Given the description of an element on the screen output the (x, y) to click on. 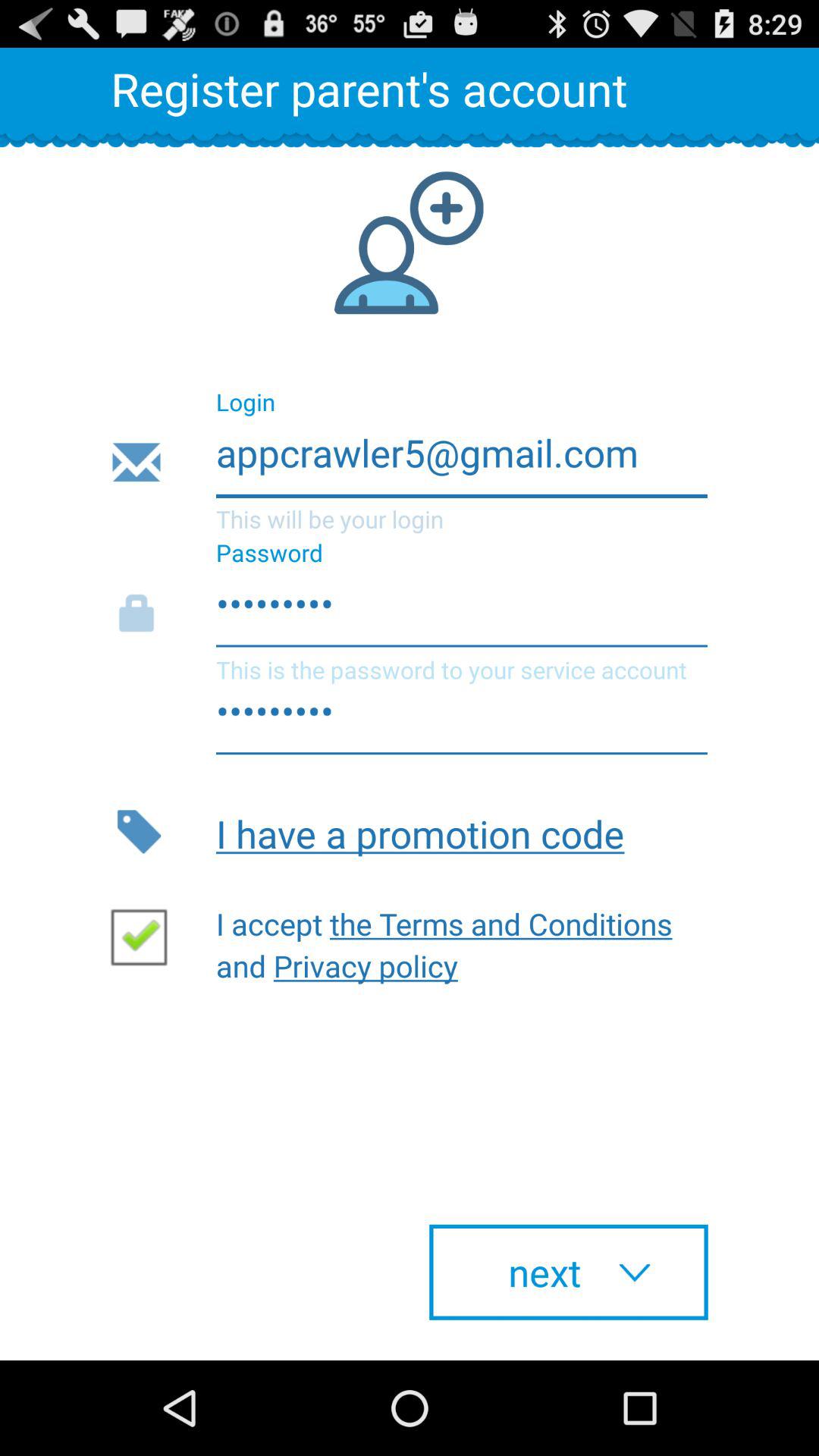
scroll until the i have a item (461, 831)
